Given the description of an element on the screen output the (x, y) to click on. 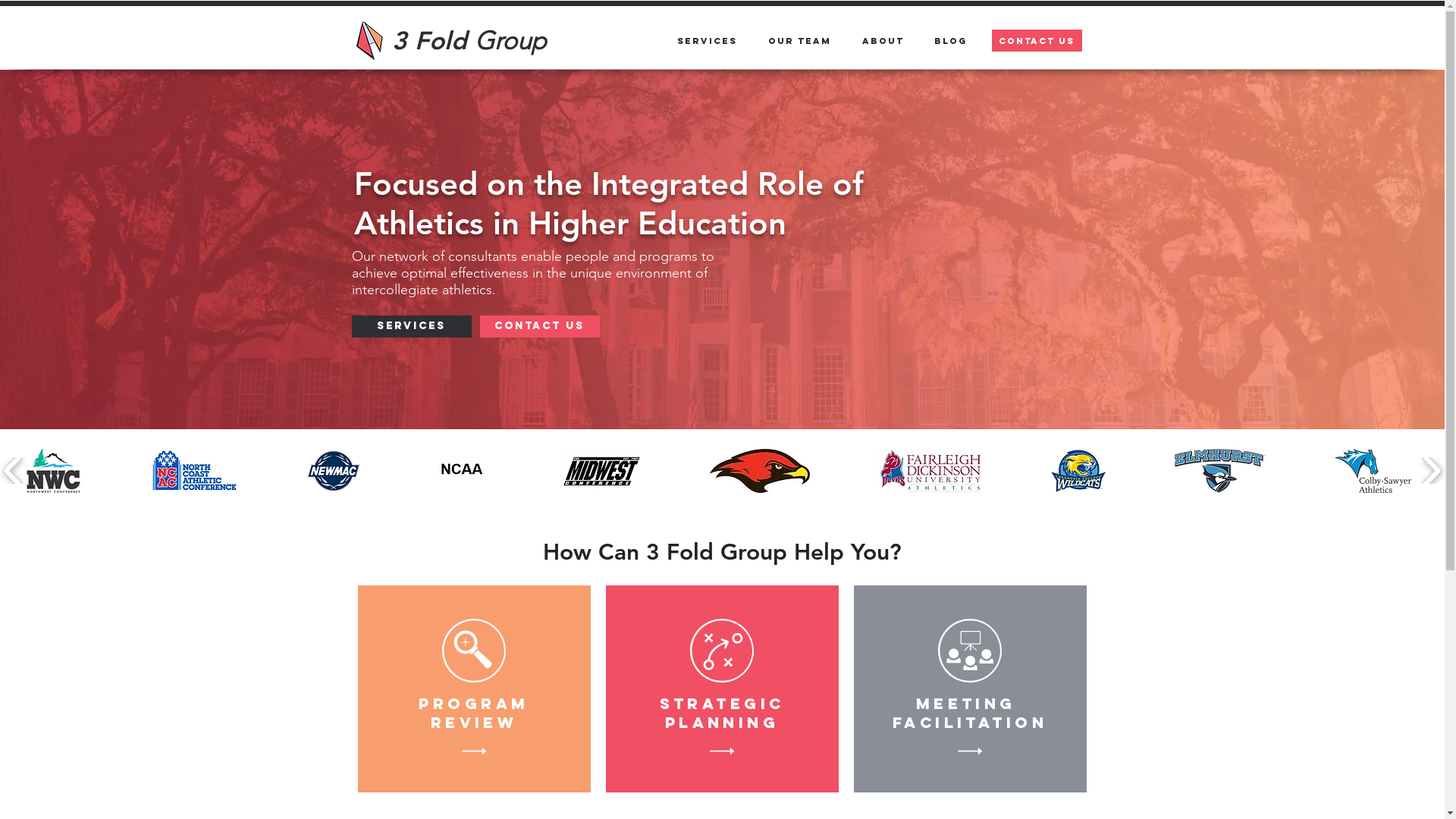
About Element type: text (882, 41)
CONTACT US Element type: text (539, 326)
3 Fold Group Element type: text (468, 40)
OUR TEAM Element type: text (799, 41)
BLOG Element type: text (950, 41)
Services Element type: text (706, 41)
CONTACT US Element type: text (1036, 40)
SERVICES Element type: text (411, 326)
